Given the description of an element on the screen output the (x, y) to click on. 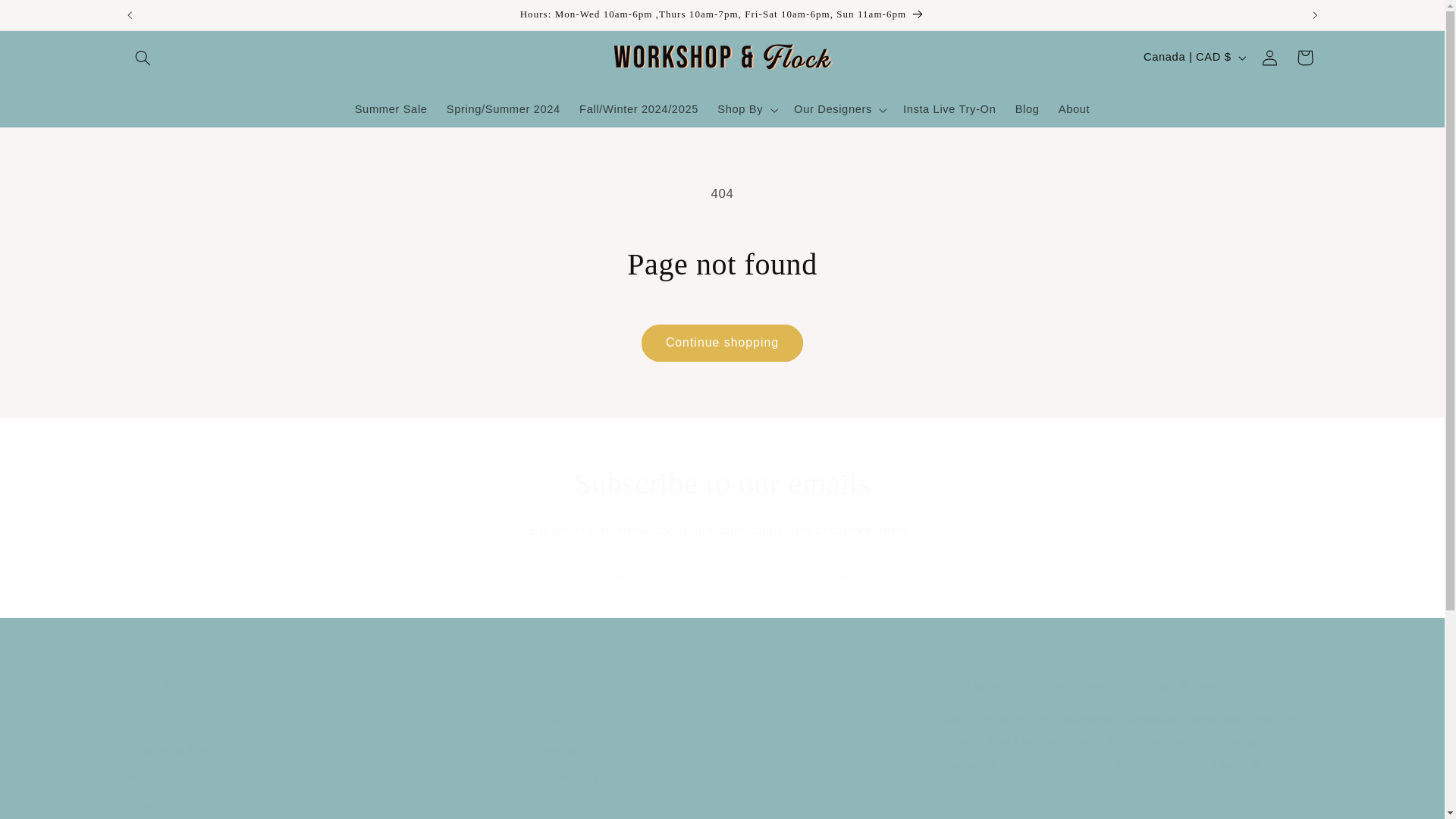
Subscribe to our emails (722, 483)
Skip to content (48, 18)
Email (721, 748)
